Given the description of an element on the screen output the (x, y) to click on. 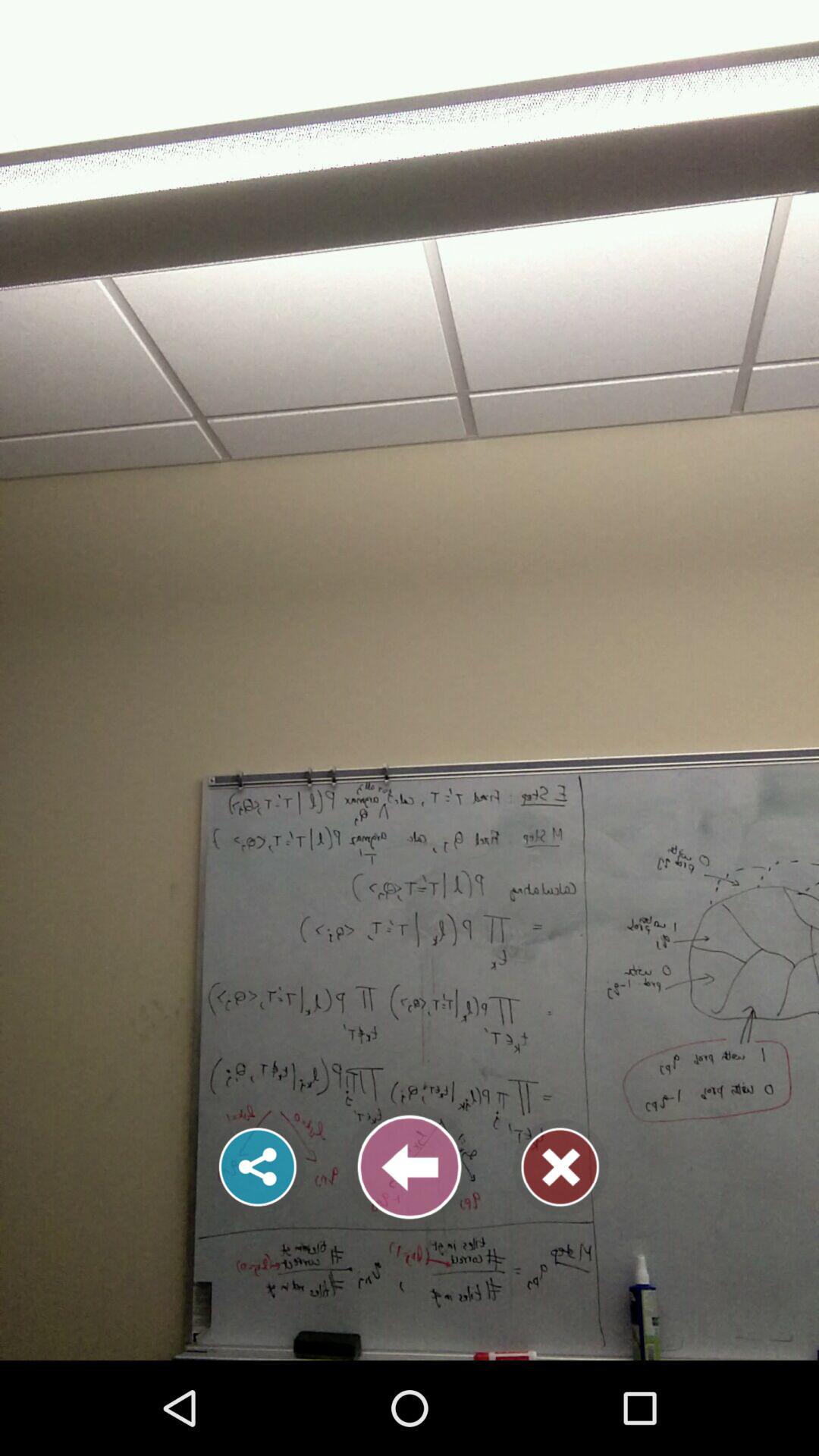
go back (409, 1166)
